Given the description of an element on the screen output the (x, y) to click on. 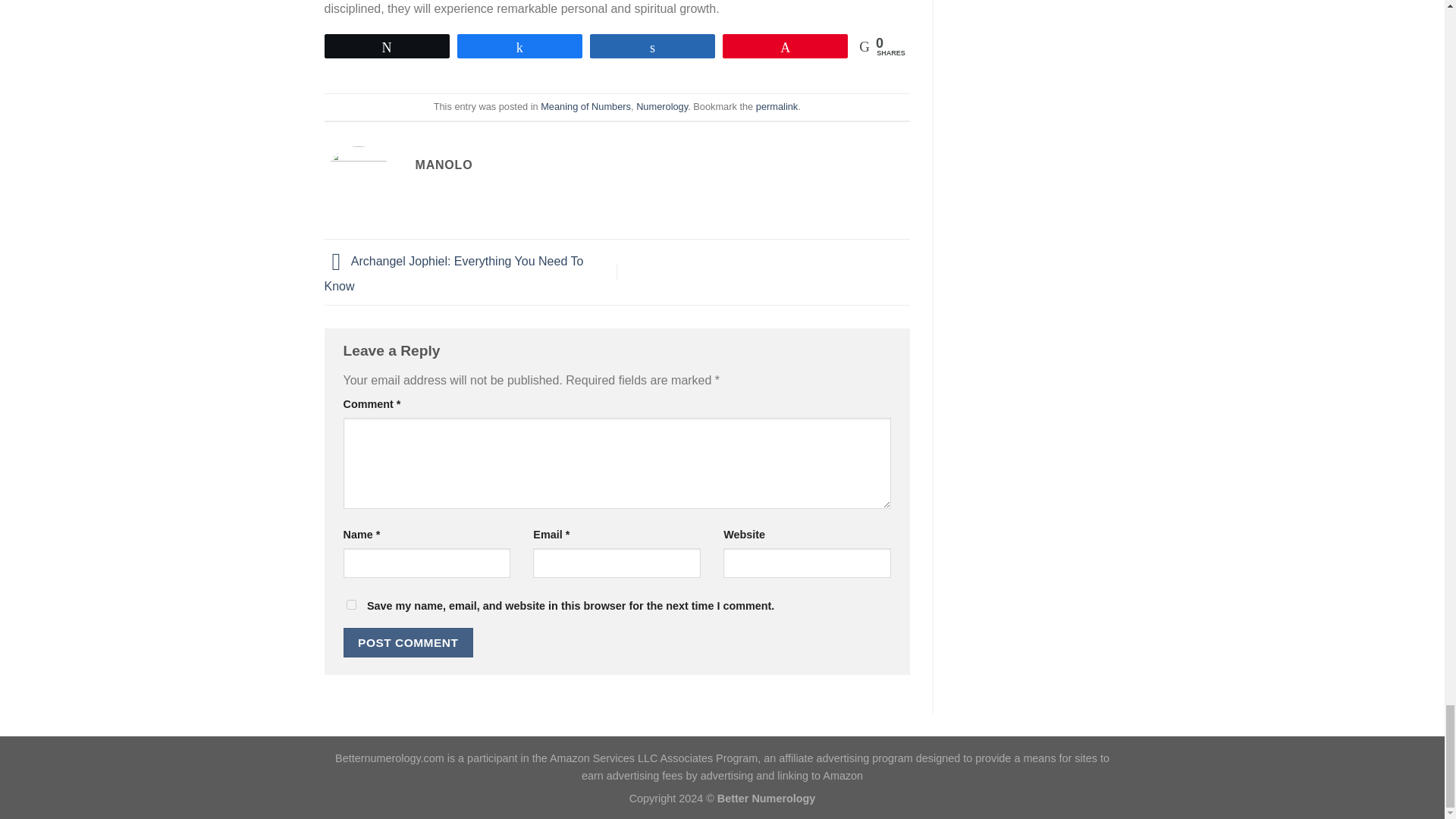
yes (350, 604)
Post Comment (407, 642)
Permalink to Sun Number 3: Explained (776, 106)
